Given the description of an element on the screen output the (x, y) to click on. 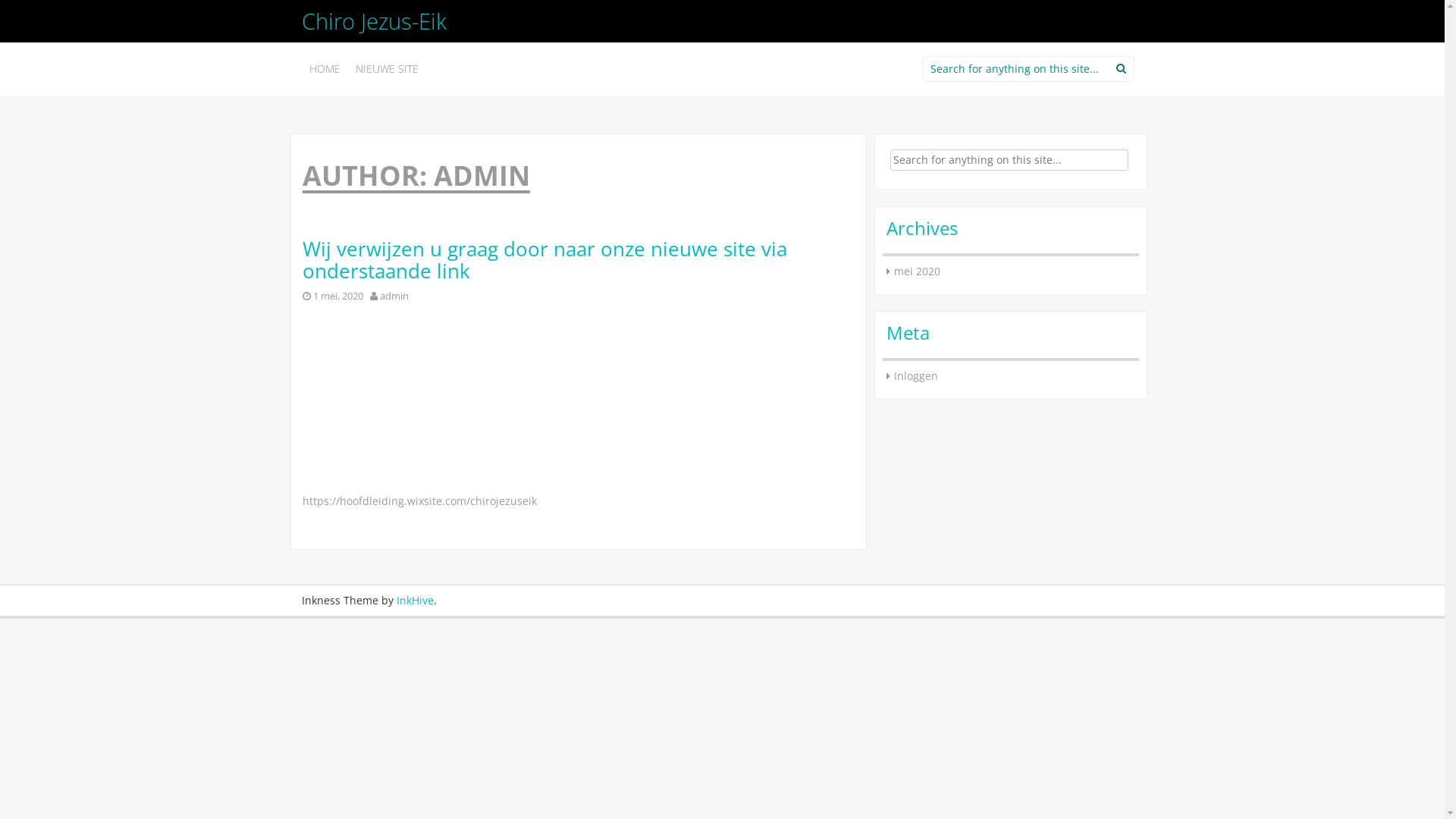
InkHive Element type: text (414, 600)
Chiro Jezus-Eik Element type: text (373, 20)
HOME Element type: text (324, 68)
Inloggen Element type: text (915, 375)
mei 2020 Element type: text (916, 270)
SKIP TO CONTENT Element type: text (352, 61)
NIEUWE SITE Element type: text (386, 68)
1 mei, 2020 Element type: text (337, 295)
admin Element type: text (393, 295)
